Given the description of an element on the screen output the (x, y) to click on. 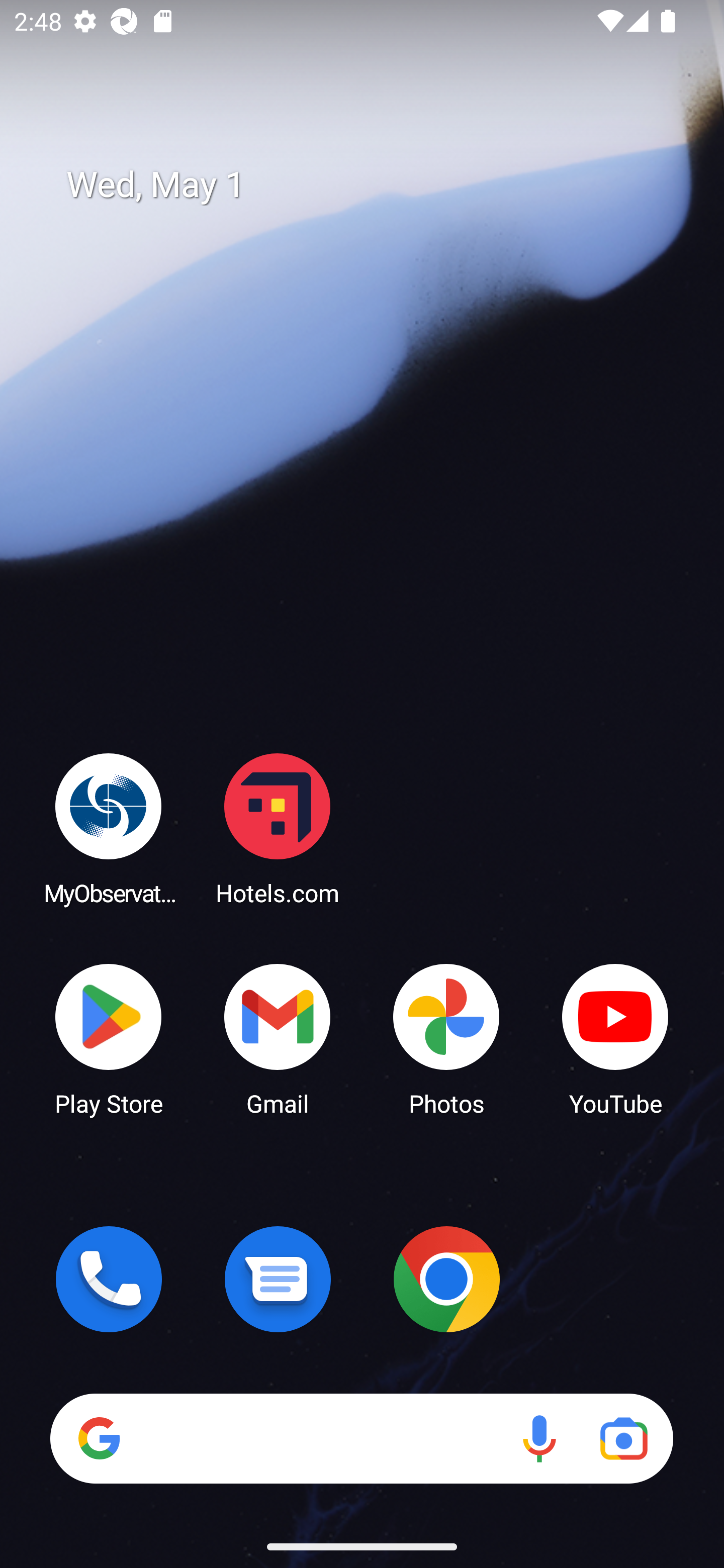
Wed, May 1 (375, 184)
MyObservatory (108, 828)
Hotels.com (277, 828)
Play Store (108, 1038)
Gmail (277, 1038)
Photos (445, 1038)
YouTube (615, 1038)
Phone (108, 1279)
Messages (277, 1279)
Chrome (446, 1279)
Search Voice search Google Lens (361, 1438)
Voice search (539, 1438)
Google Lens (623, 1438)
